Given the description of an element on the screen output the (x, y) to click on. 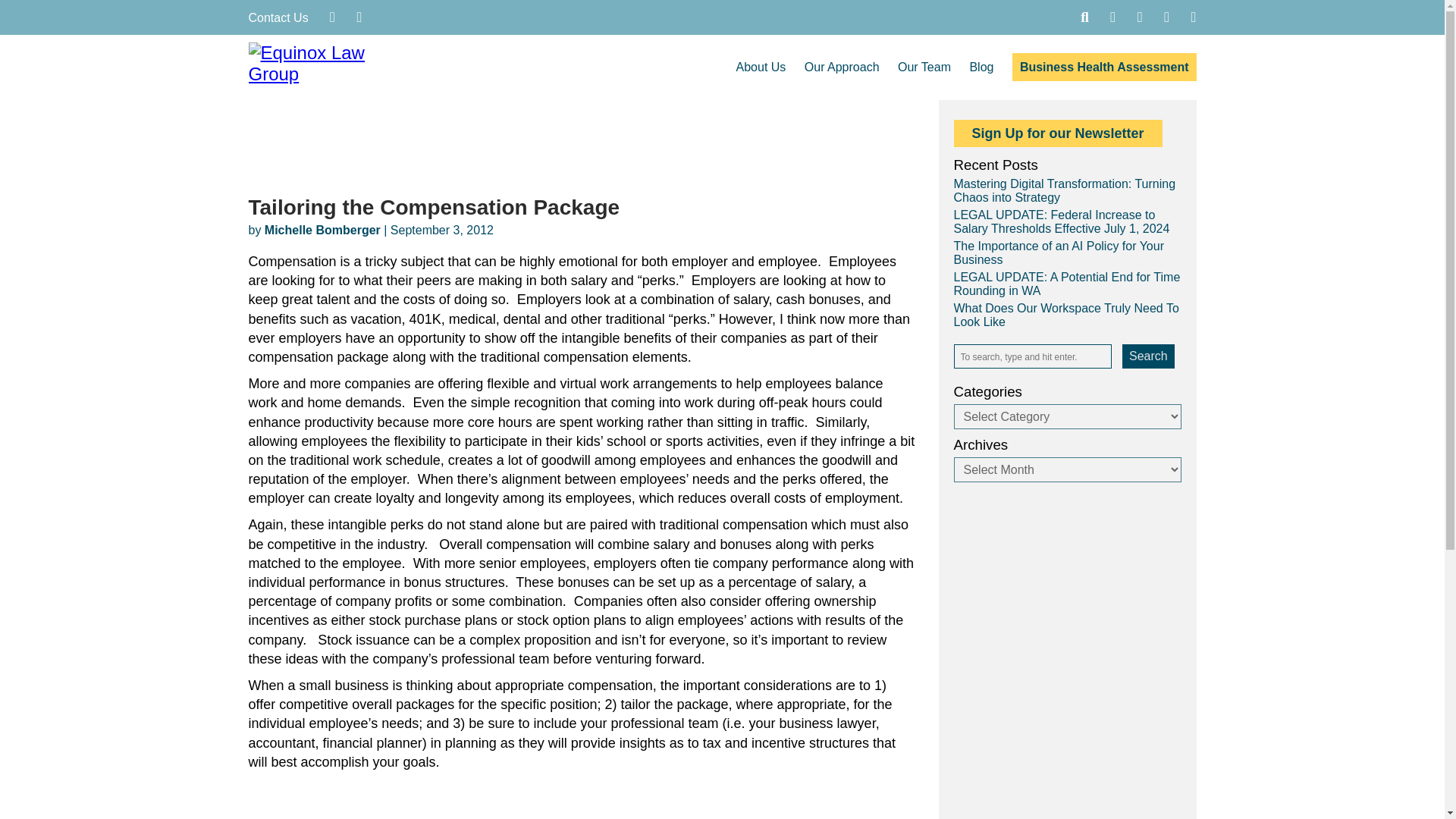
Sign Up for our Newsletter (1057, 133)
Tailoring the Compensation Package (434, 207)
Tailoring the Compensation Package (434, 207)
What Does Our Workspace Truly Need To Look Like (1066, 315)
Blog (980, 66)
Michelle Bomberger (322, 229)
LEGAL UPDATE: A Potential End for Time Rounding in WA (1066, 284)
Contact Us (278, 17)
About Us (761, 66)
Business Health Assessment (1103, 67)
Our Approach (842, 66)
Posts by Michelle Bomberger (322, 229)
The Importance of an AI Policy for Your Business (1058, 252)
Search (1148, 355)
